Given the description of an element on the screen output the (x, y) to click on. 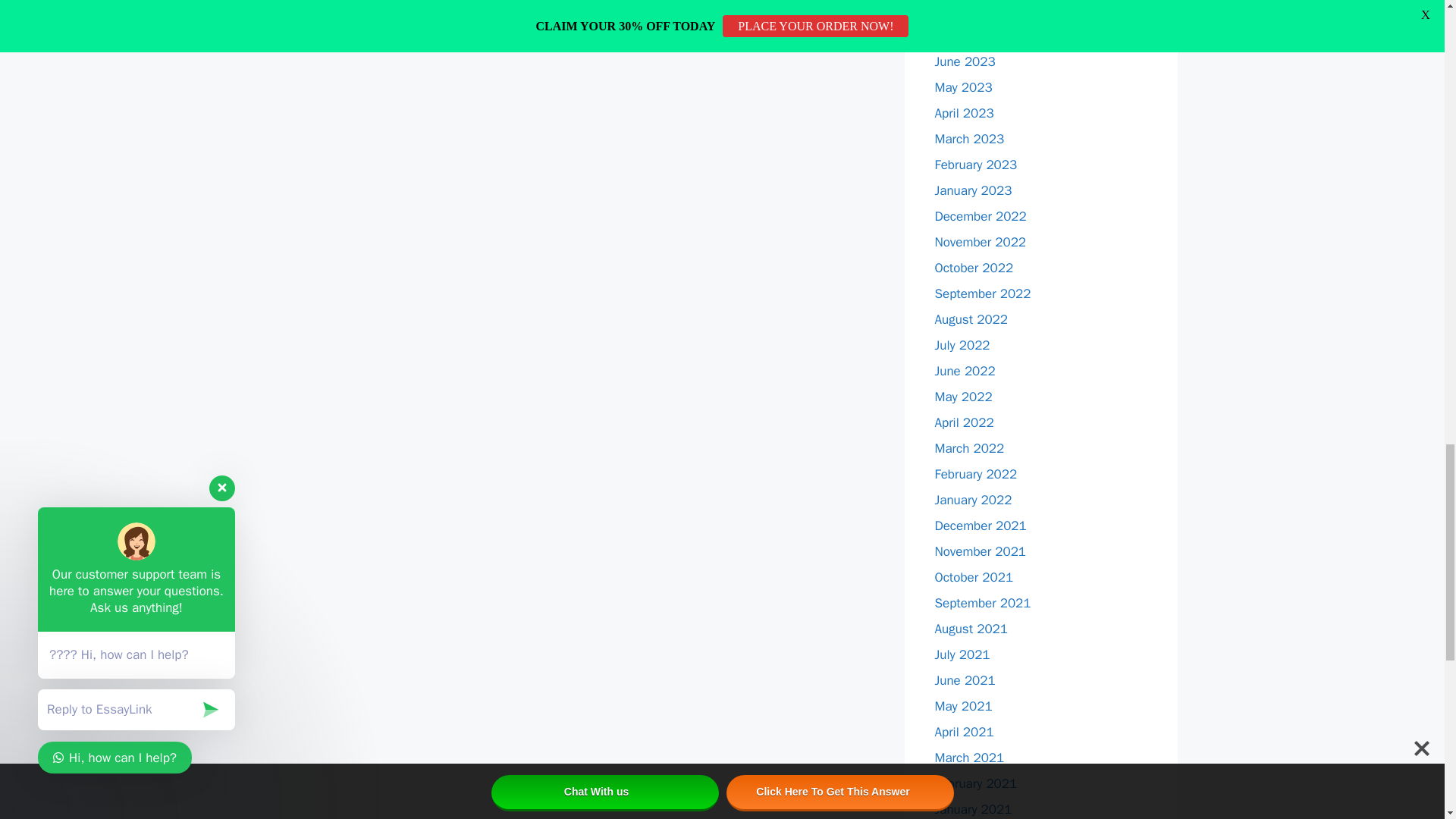
January 2023 (972, 190)
May 2023 (962, 87)
February 2023 (975, 164)
October 2022 (973, 268)
August 2023 (970, 10)
June 2023 (964, 61)
April 2023 (963, 113)
March 2023 (969, 139)
December 2022 (980, 216)
July 2023 (962, 35)
November 2022 (980, 242)
